Given the description of an element on the screen output the (x, y) to click on. 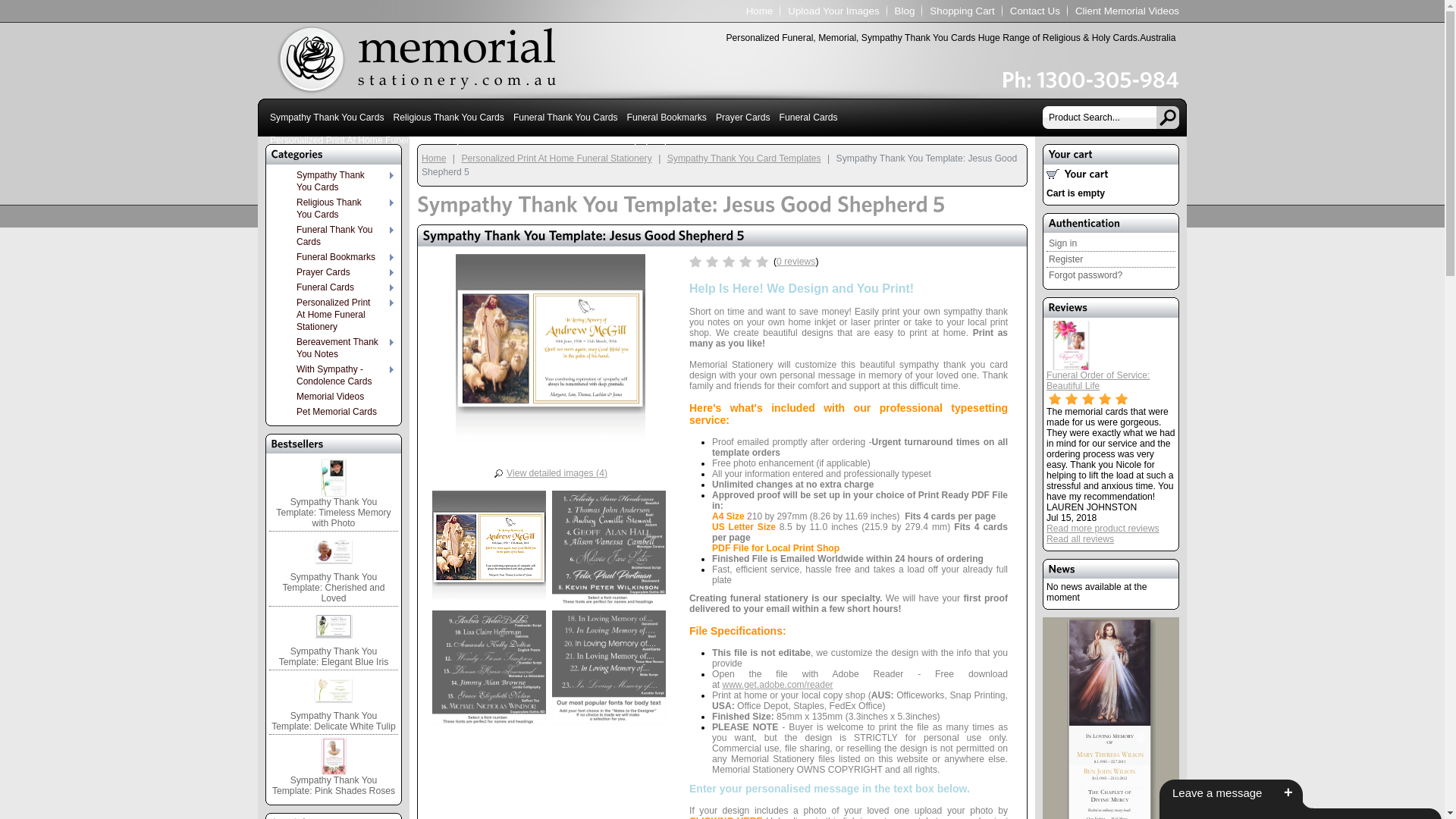
Memorial Videos Element type: text (337, 396)
Pet Memorial Cards Element type: text (879, 139)
Religious Thank You Cards Element type: text (448, 117)
Forgot password? Element type: text (1110, 274)
Choose a beautiful Scripted Font for your loved one's name Element type: hover (489, 669)
Home Element type: text (759, 10)
Sympathy Thank You Template: Timeless Memory with Photo Element type: text (333, 493)
Bereavement Thank You Notes Element type: text (532, 139)
Read all reviews Element type: text (1079, 538)
Funeral Order of Service Beautiful Life Element type: hover (1070, 343)
Choose a font for the body text Element type: hover (608, 669)
Sympathy Thank You Template: Delicate White Tulip Element type: text (333, 702)
Pet Memorial Cards Element type: text (337, 411)
Read more product reviews Element type: text (1102, 528)
Upload Your Images Element type: text (832, 10)
Sympathy Thank You Cards Element type: text (326, 117)
Sympathy Thank You Template: Elegant Blue Iris Element type: text (333, 638)
With Sympathy - Condolence Cards Element type: text (678, 139)
Client Memorial Videos Element type: text (1127, 10)
Memorial Videos Element type: text (795, 139)
Funeral Order of Service: Beautiful Life Element type: text (1097, 380)
Sympathy Thank You Card Templates Element type: text (744, 158)
0 reviews Element type: text (795, 261)
Prayer Cards Element type: text (337, 272)
Funeral Bookmarks Element type: text (337, 257)
Funeral Thank You Cards Element type: text (565, 117)
Personalized Print At Home Funeral Stationery Element type: text (364, 139)
Sympathy Thank You Cards Element type: text (337, 181)
Home Element type: text (433, 158)
Funeral Cards Element type: text (337, 287)
www.get.adobe.com/reader Element type: text (777, 684)
Funeral Cards Element type: text (808, 117)
Sympathy Thank You Template: Pink Shades Roses Element type: text (333, 766)
Blog Element type: text (904, 10)
View detailed images (4) Element type: text (550, 472)
Prayer Cards Element type: text (743, 117)
Personalized Print At Home Funeral Stationery Element type: text (556, 158)
Religious Thank You Cards Element type: text (337, 208)
With Sympathy - Condolence Cards Element type: text (337, 375)
Register Element type: text (1110, 259)
Funeral Bookmarks Element type: text (666, 117)
Shopping Cart Element type: text (961, 10)
Contact Us Element type: text (1035, 10)
Sign in Element type: text (1110, 243)
Sympathy Thank You Template: Cherished and Loved Element type: text (333, 568)
Personalized Print At Home Funeral Stationery Element type: text (337, 314)
Personalized Print at Home Template Element type: hover (489, 549)
Choose a beautiful Scripted Font for your loved one's name Element type: hover (608, 549)
Bereavement Thank You Notes Element type: text (337, 347)
Funeral Thank You Cards Element type: text (337, 235)
